Given the description of an element on the screen output the (x, y) to click on. 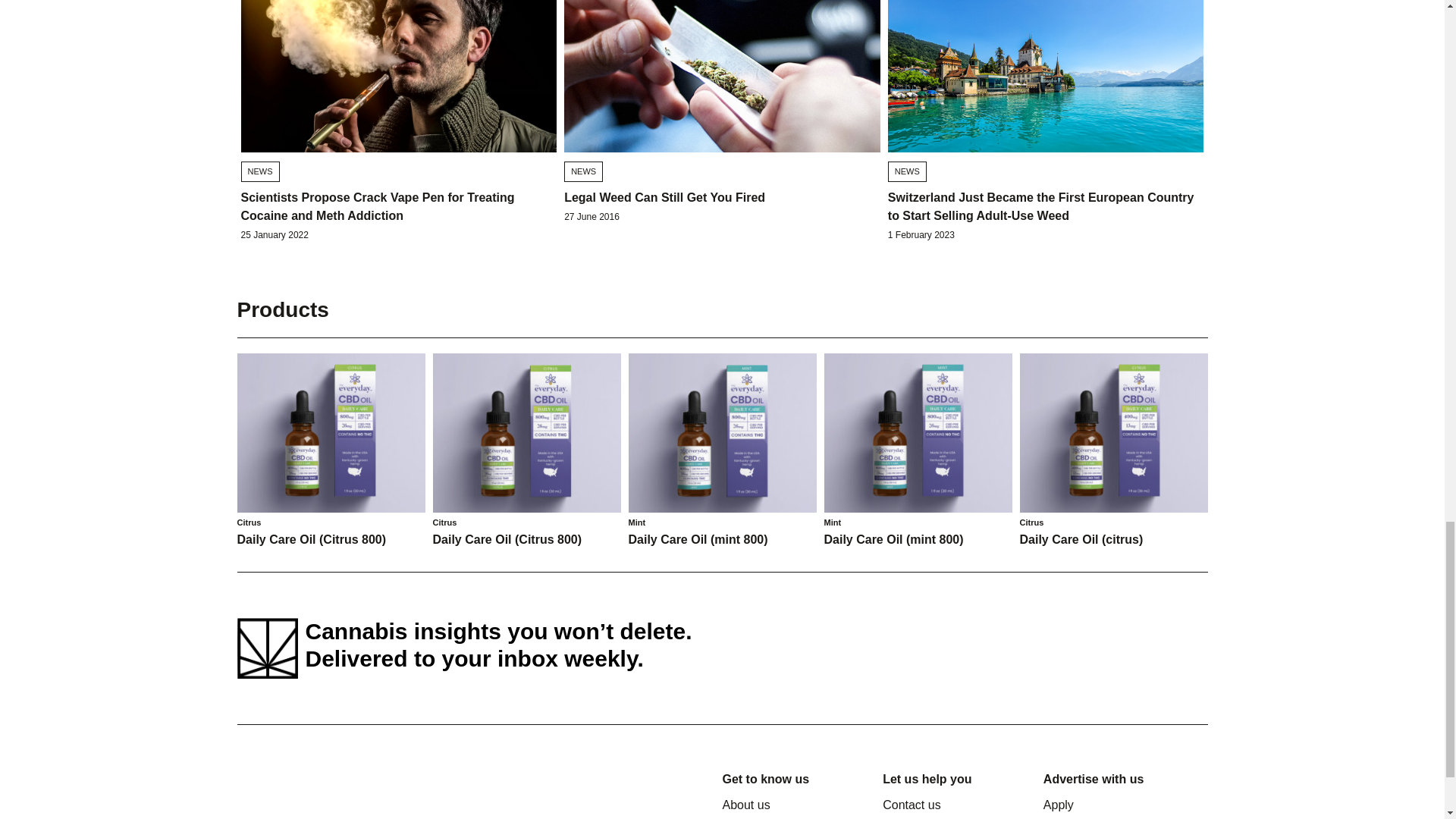
Legal Weed Can Still Get You Fired (664, 196)
NEWS (907, 171)
NEWS (260, 171)
NEWS (583, 171)
